Given the description of an element on the screen output the (x, y) to click on. 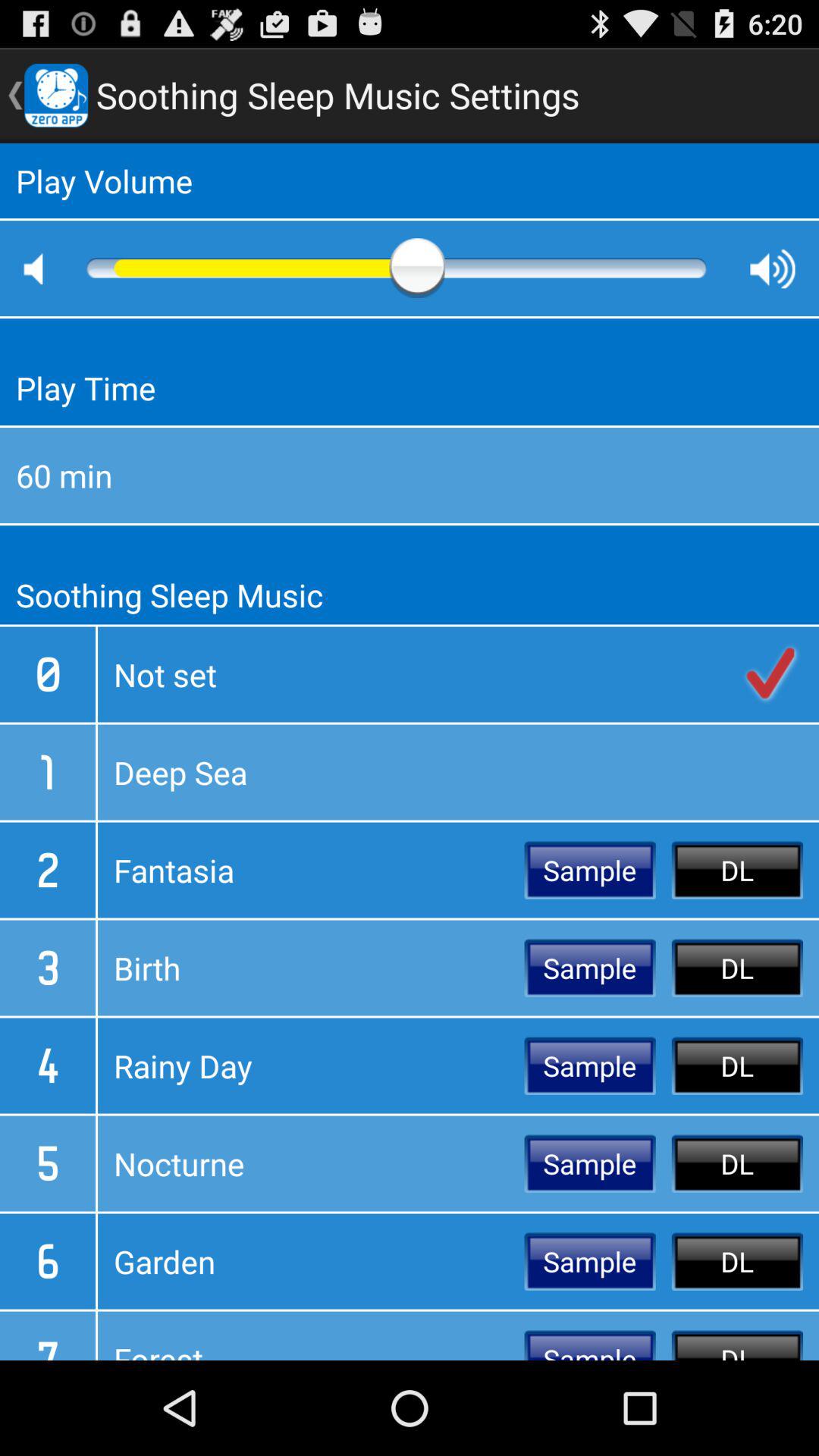
tap the icon to the left of the sample icon (310, 1163)
